Given the description of an element on the screen output the (x, y) to click on. 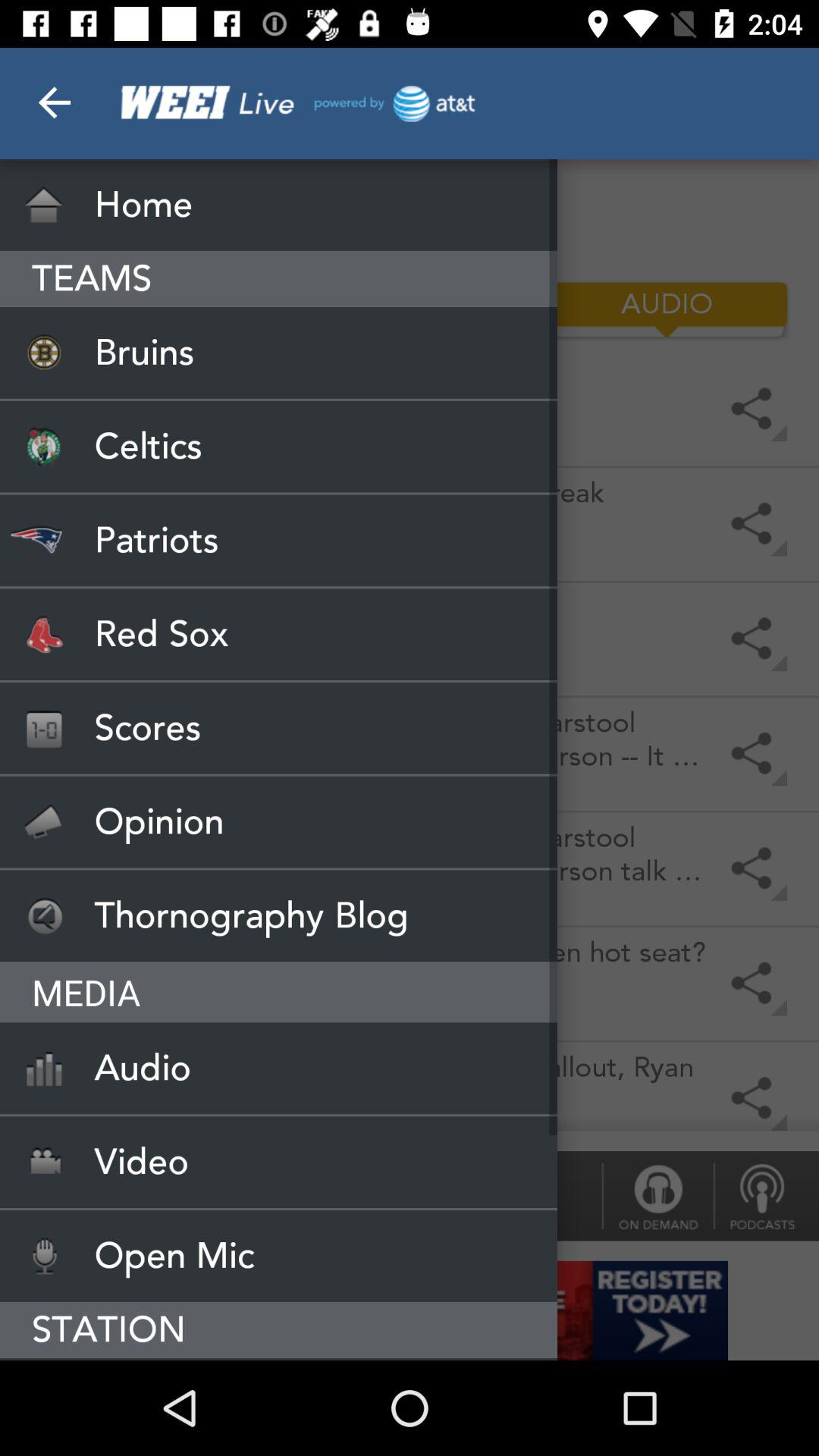
open icon below the station (278, 1359)
